Given the description of an element on the screen output the (x, y) to click on. 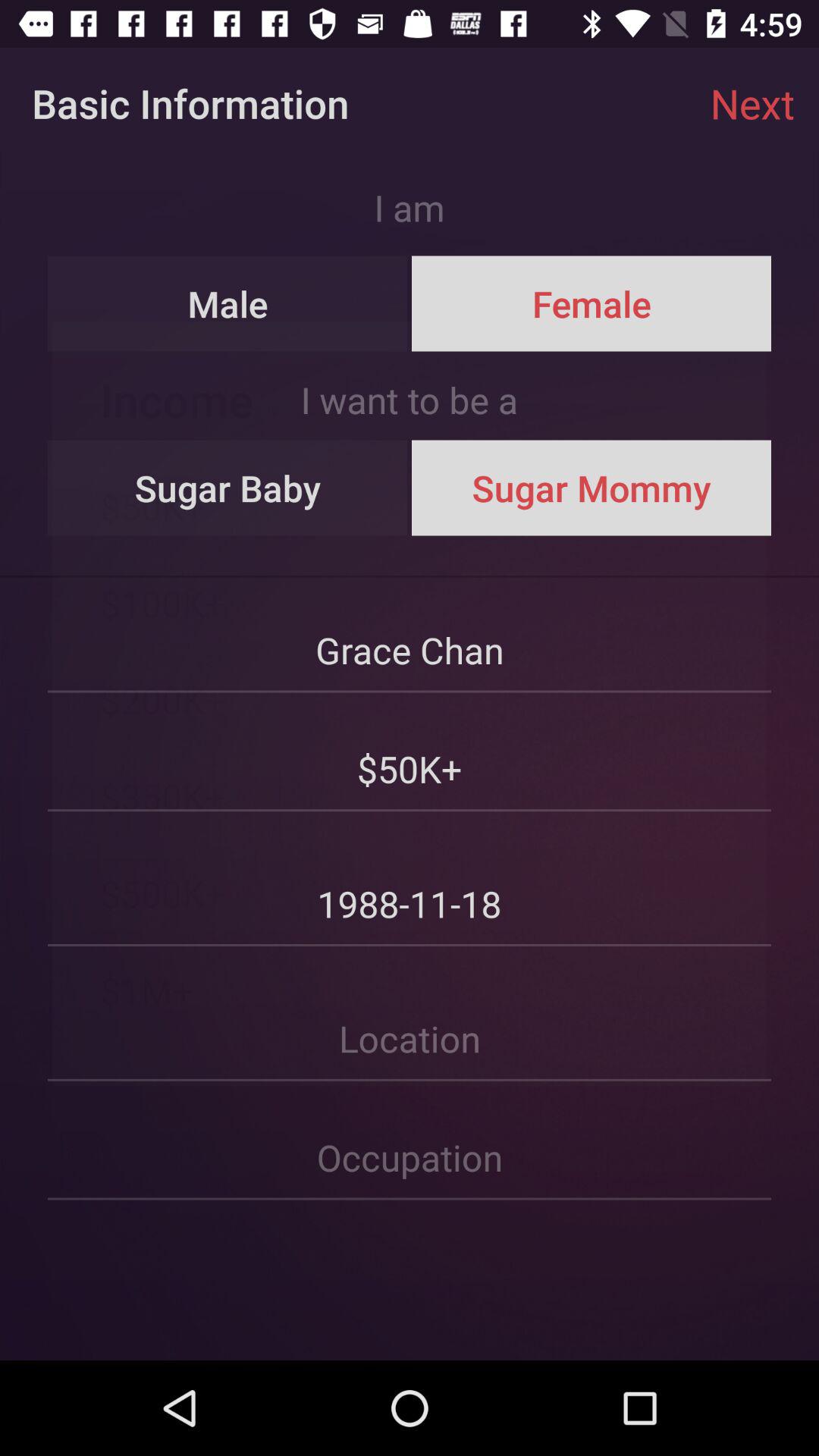
toggle location option (409, 1014)
